Given the description of an element on the screen output the (x, y) to click on. 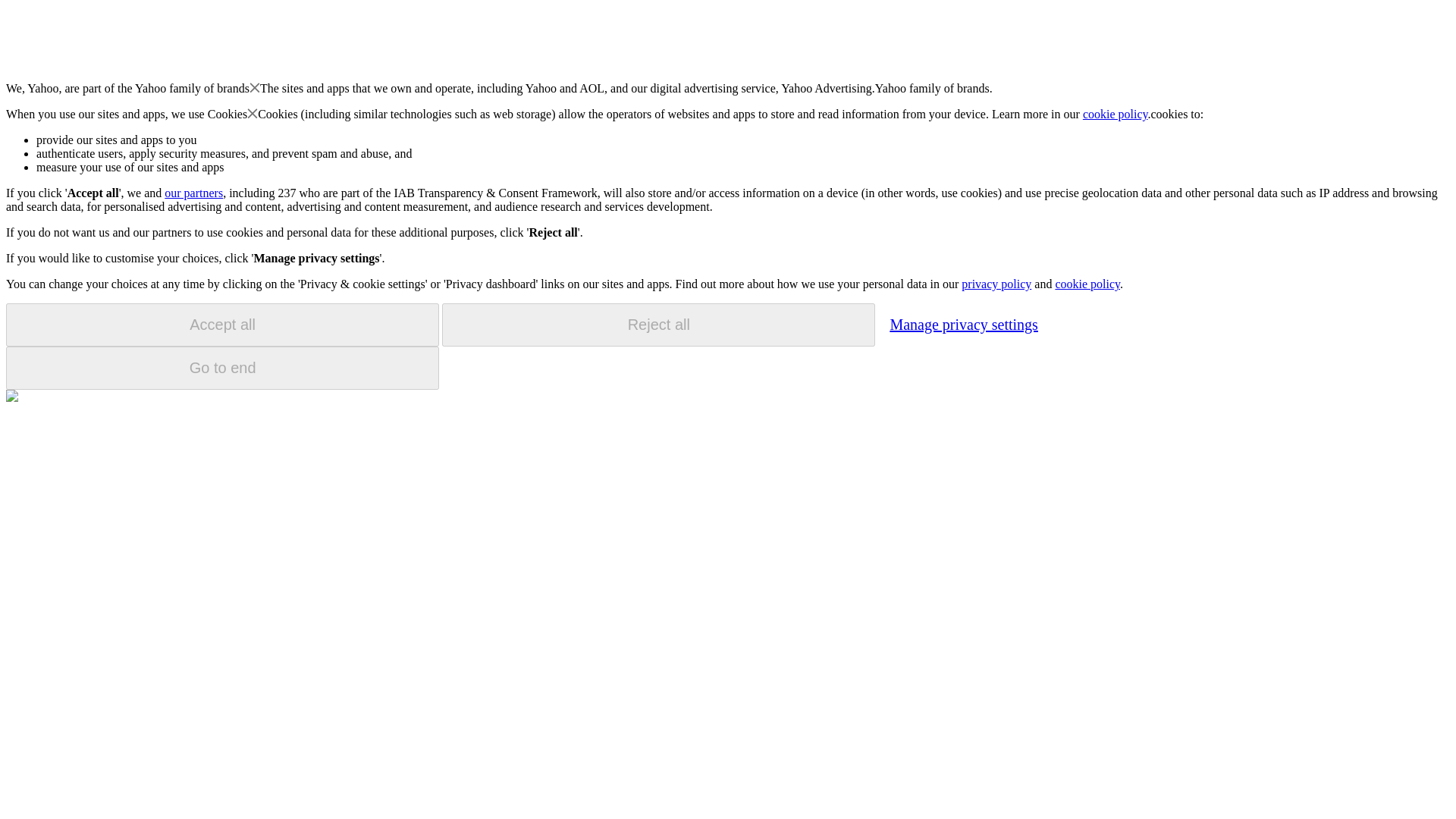
cookie policy (1086, 283)
Go to end (222, 367)
privacy policy (995, 283)
cookie policy (1115, 113)
our partners (193, 192)
Reject all (658, 324)
Accept all (222, 324)
Manage privacy settings (963, 323)
